Given the description of an element on the screen output the (x, y) to click on. 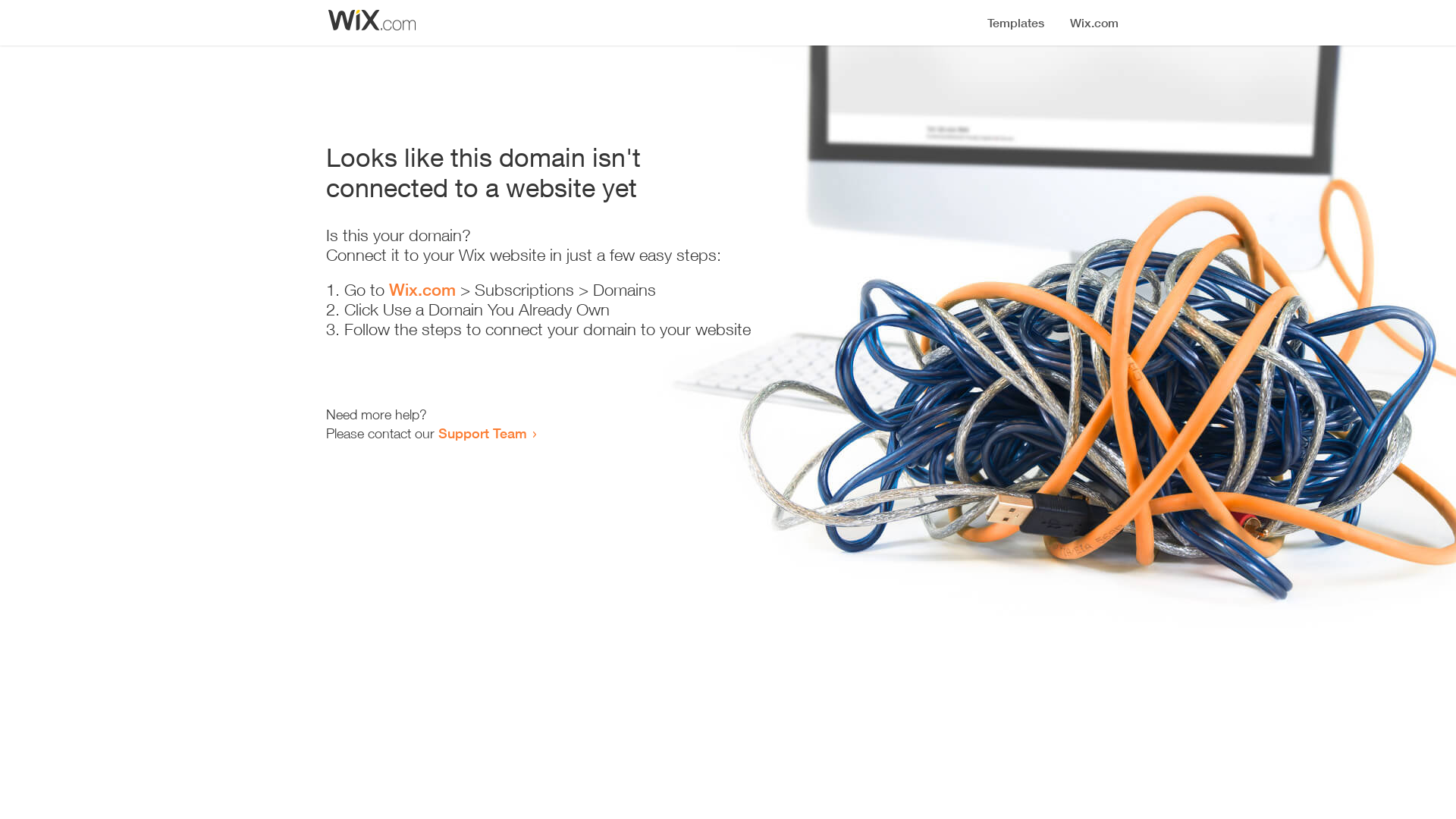
Support Team Element type: text (482, 432)
Wix.com Element type: text (422, 289)
